Given the description of an element on the screen output the (x, y) to click on. 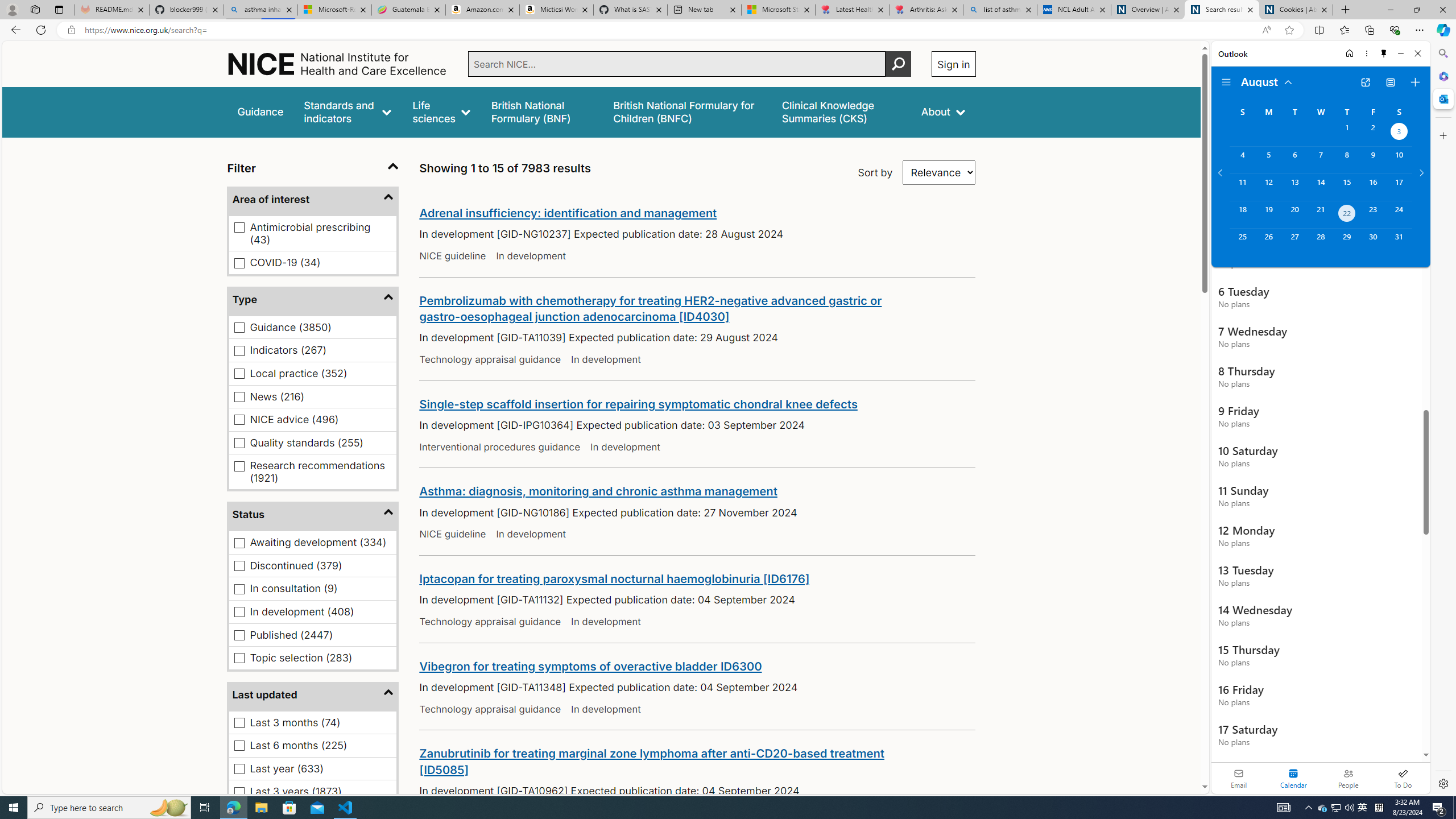
Search results | NICE (1221, 9)
Monday, August 19, 2024.  (1268, 214)
Indicators (267) (239, 350)
Wednesday, August 7, 2024.  (1320, 159)
Last 3 months (74) (239, 722)
Life sciences (440, 111)
Close Customize pane (1442, 135)
Wednesday, August 14, 2024.  (1320, 186)
NICE advice (496) (239, 419)
